Given the description of an element on the screen output the (x, y) to click on. 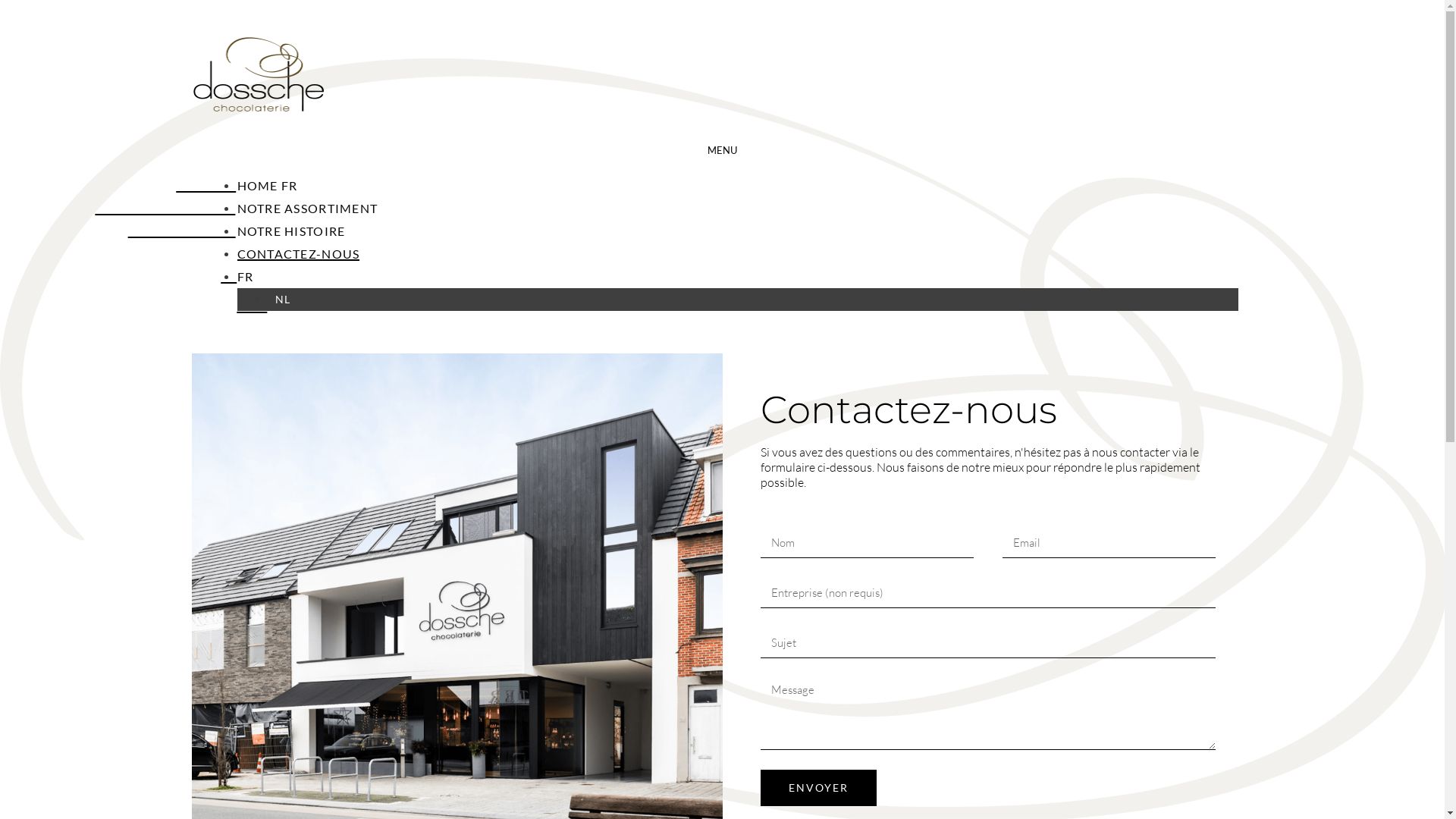
Aller au contenu Element type: text (5, 5)
CONTACTEZ-NOUS Element type: text (297, 253)
HOME FR Element type: text (266, 185)
Chocolaterie Dossche Element type: hover (258, 107)
FR Element type: text (244, 276)
Chocolaterie Dossche Element type: hover (258, 74)
NL Element type: text (281, 299)
MENU Element type: text (721, 150)
NOTRE HISTOIRE Element type: text (290, 230)
ENVOYER Element type: text (817, 787)
NOTRE ASSORTIMENT Element type: text (306, 207)
